Given the description of an element on the screen output the (x, y) to click on. 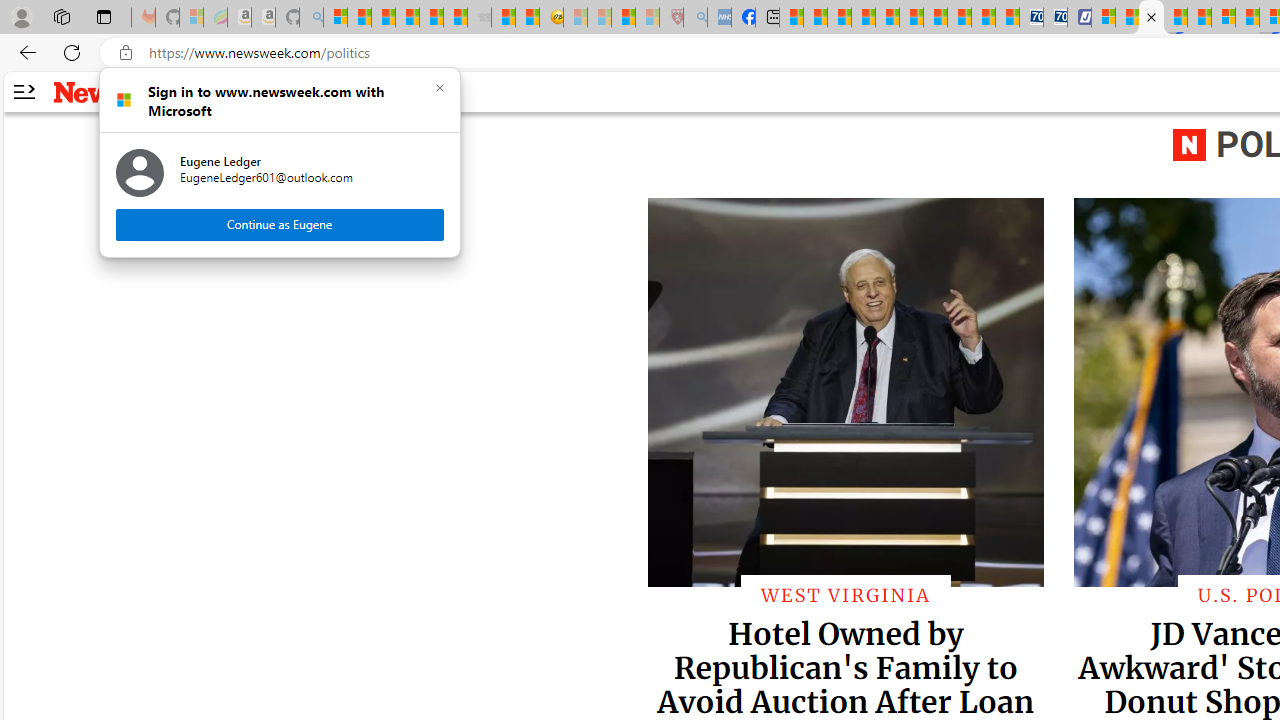
Continue as Eugene (280, 224)
The Weather Channel - MSN (383, 17)
